Given the description of an element on the screen output the (x, y) to click on. 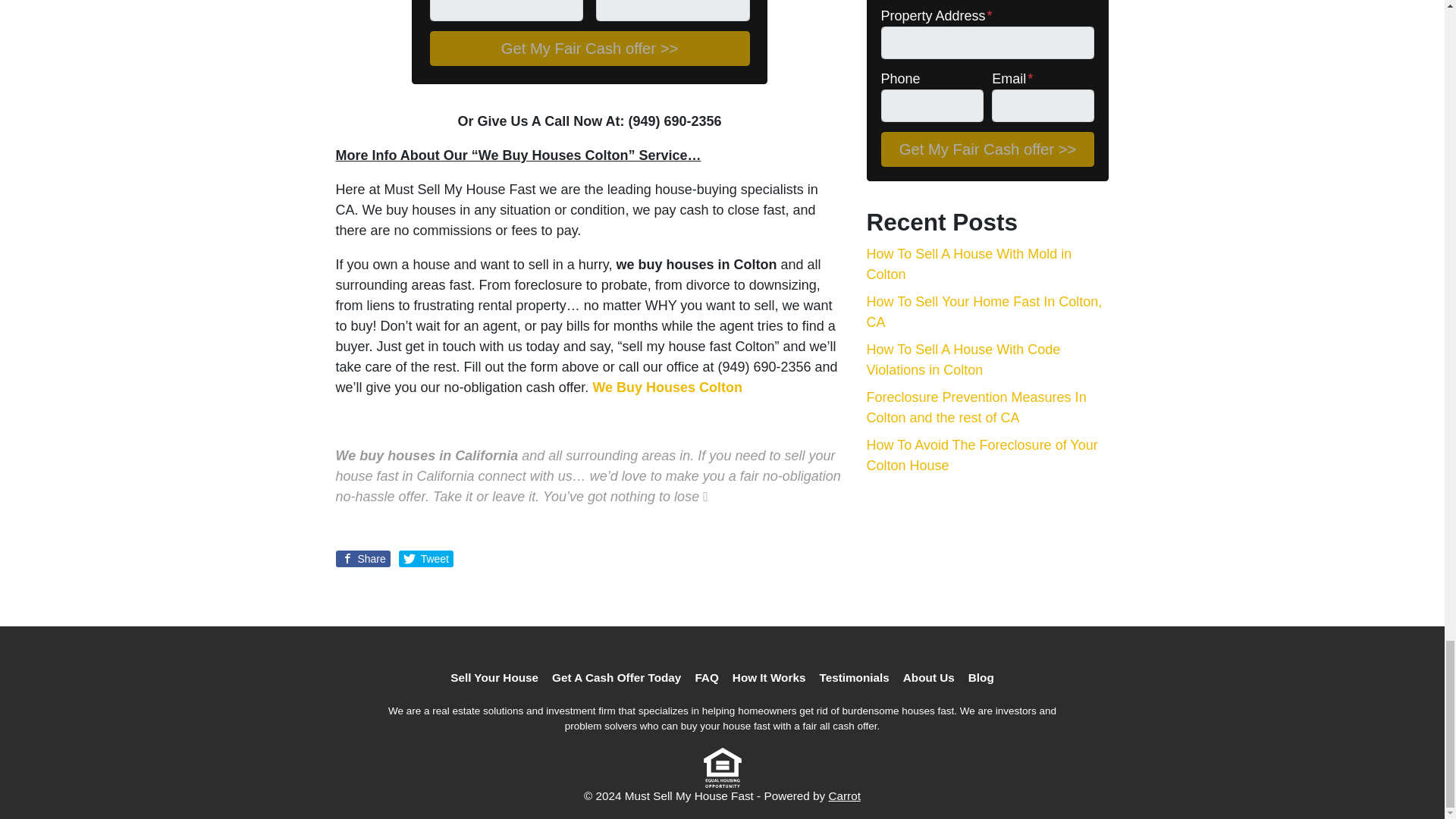
How To Avoid The Foreclosure of Your Colton House (981, 455)
Blog (980, 678)
How To Sell A House With Mold in Colton (968, 263)
Get A Cash Offer Today (615, 678)
How It Works (768, 678)
About Us (928, 678)
Foreclosure Prevention Measures In Colton and the rest of CA (976, 407)
Share (362, 558)
How To Sell Your Home Fast In Colton, CA (984, 312)
How To Sell A House With Code Violations in Colton (962, 359)
